Given the description of an element on the screen output the (x, y) to click on. 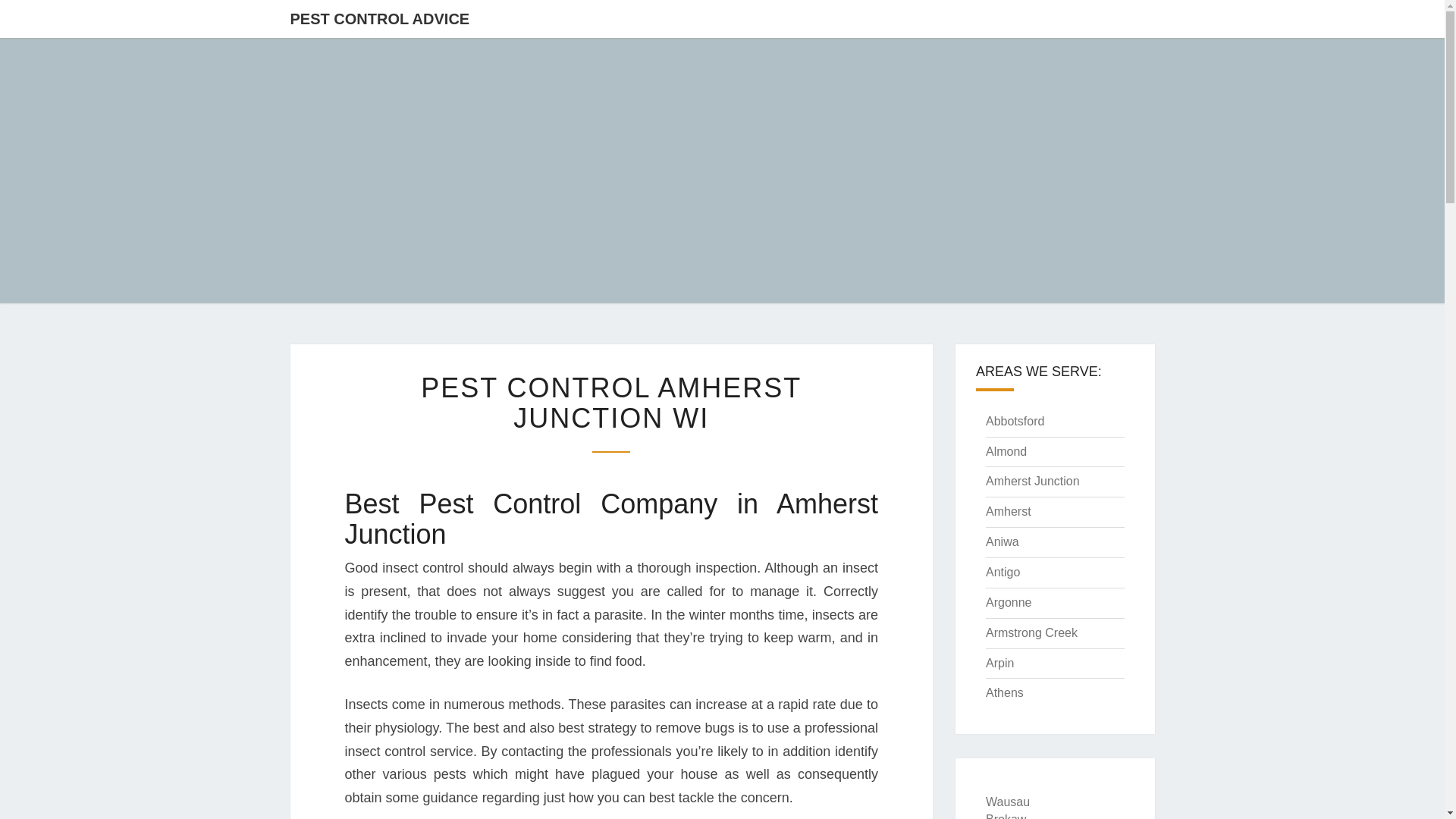
Abbotsford (1014, 420)
Aniwa (1002, 541)
PEST CONTROL ADVICE (380, 18)
Antigo (1002, 571)
Athens (1004, 692)
Brokaw (1005, 816)
Arpin (999, 662)
Almond (1005, 451)
Amherst Junction (1032, 481)
Argonne (1008, 602)
Armstrong Creek (1031, 632)
Amherst (1007, 511)
Wausau (1007, 801)
